Given the description of an element on the screen output the (x, y) to click on. 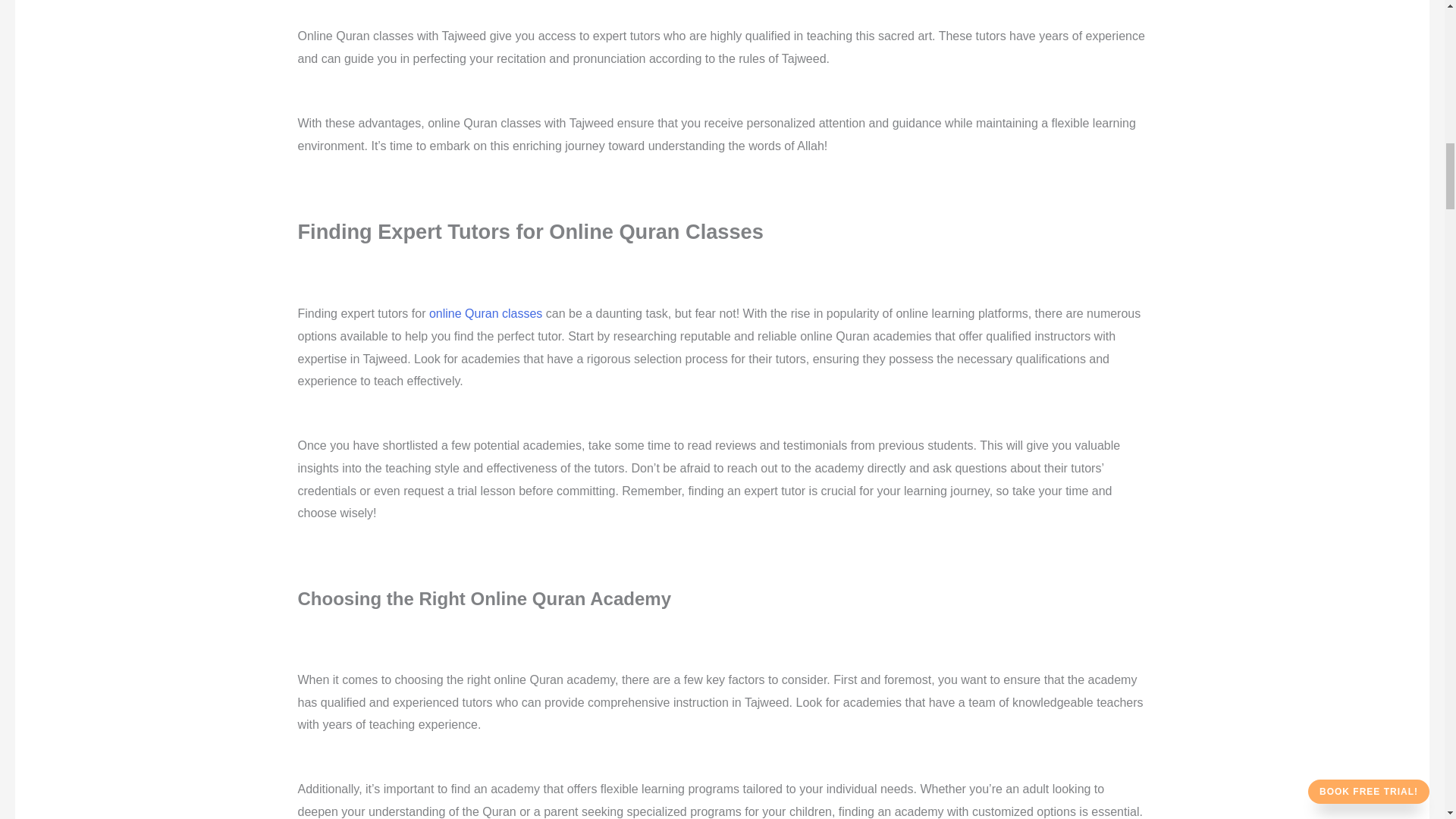
online Quran classes (485, 313)
